Given the description of an element on the screen output the (x, y) to click on. 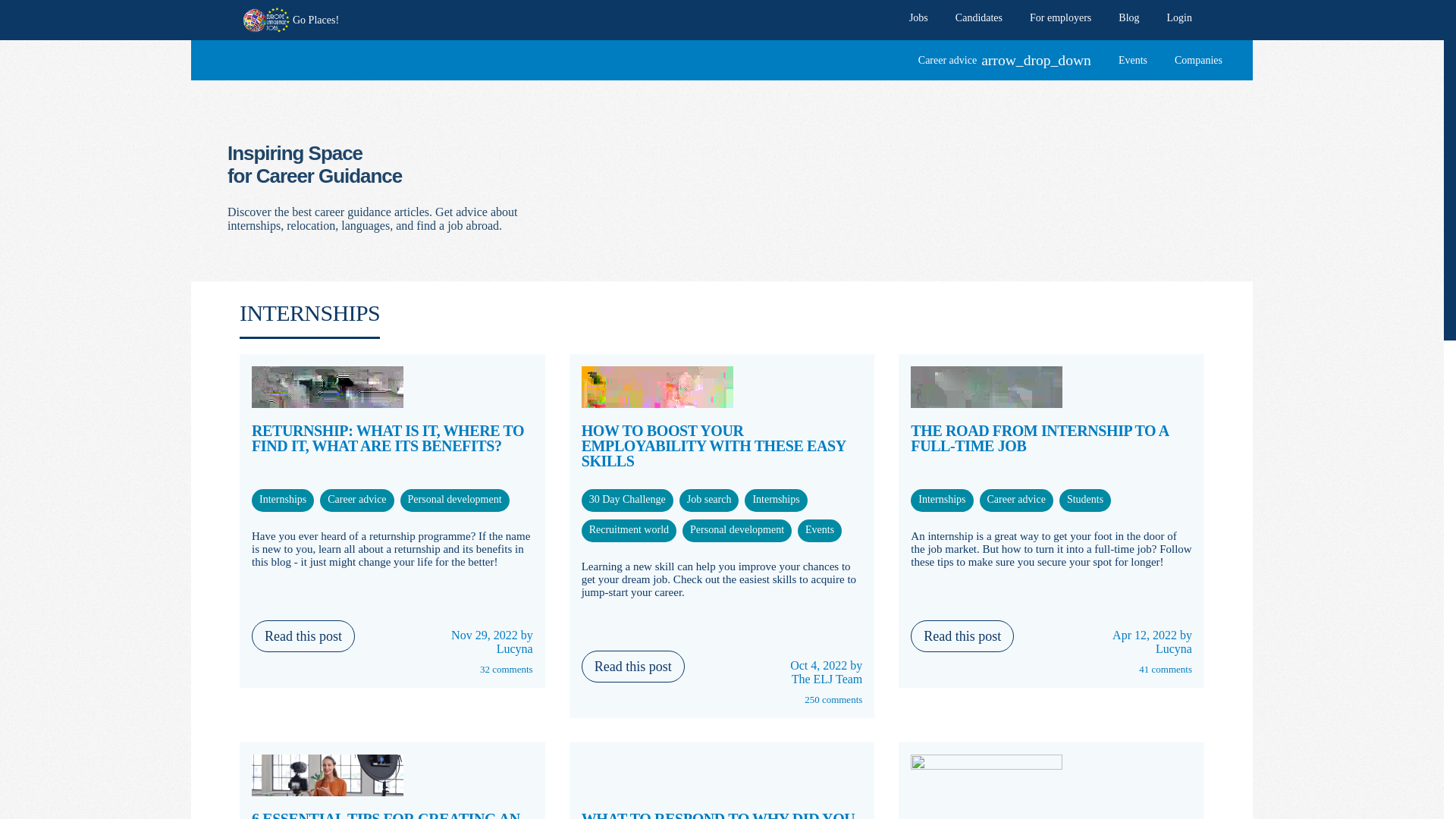
Internships (941, 499)
Career advice (356, 499)
Job search (709, 499)
Candidates (978, 17)
250 comments (721, 699)
Career advice (1085, 499)
For employers (1060, 17)
Career advice (628, 529)
Events (819, 529)
Career advice (775, 499)
Events (1132, 60)
Recruitment world (628, 529)
Read this post (962, 635)
Career advice (941, 499)
Blog (1128, 17)
